Given the description of an element on the screen output the (x, y) to click on. 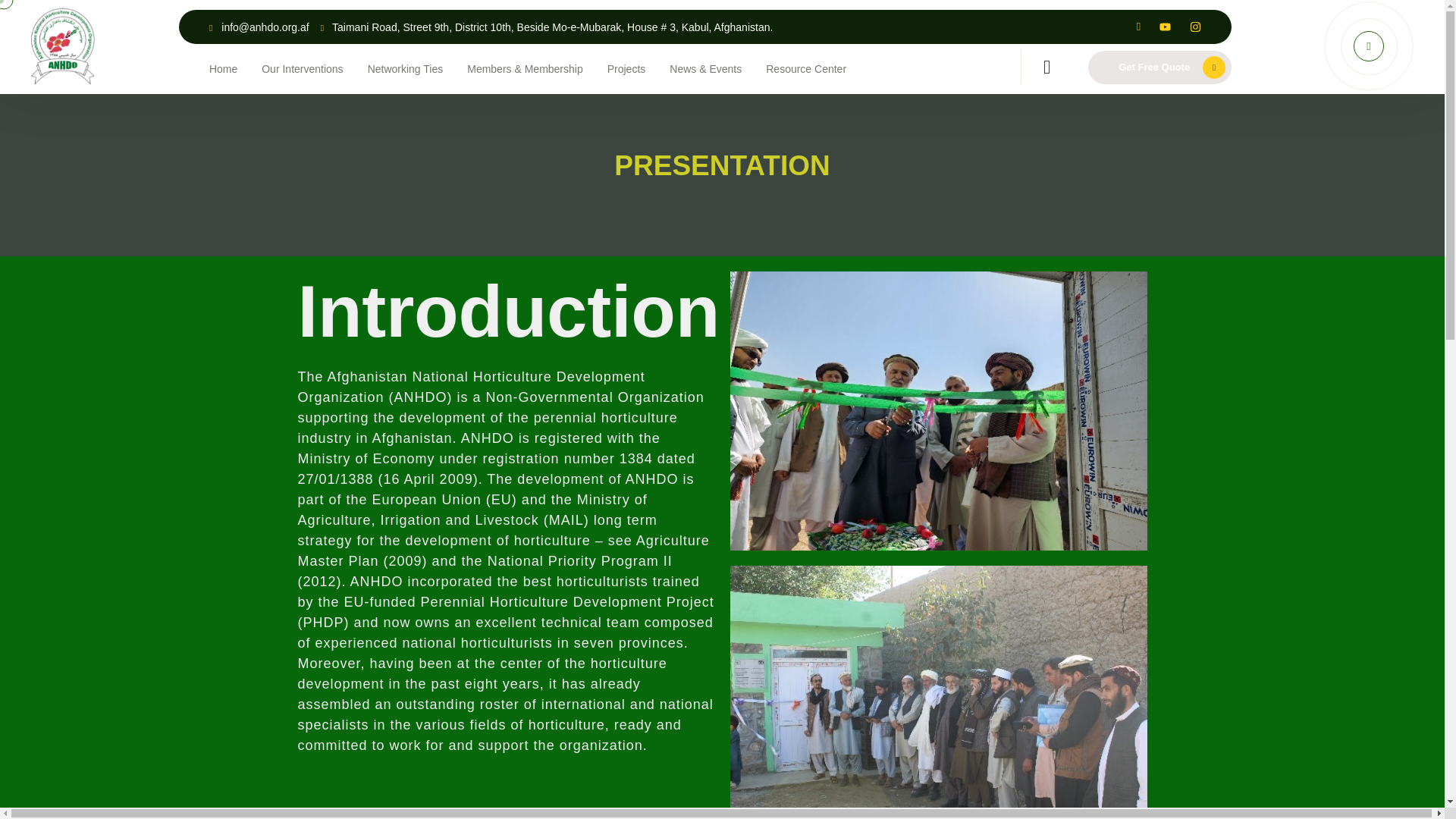
Projects (626, 68)
Home (223, 68)
Networking Ties (406, 68)
Our Interventions (302, 68)
